Given the description of an element on the screen output the (x, y) to click on. 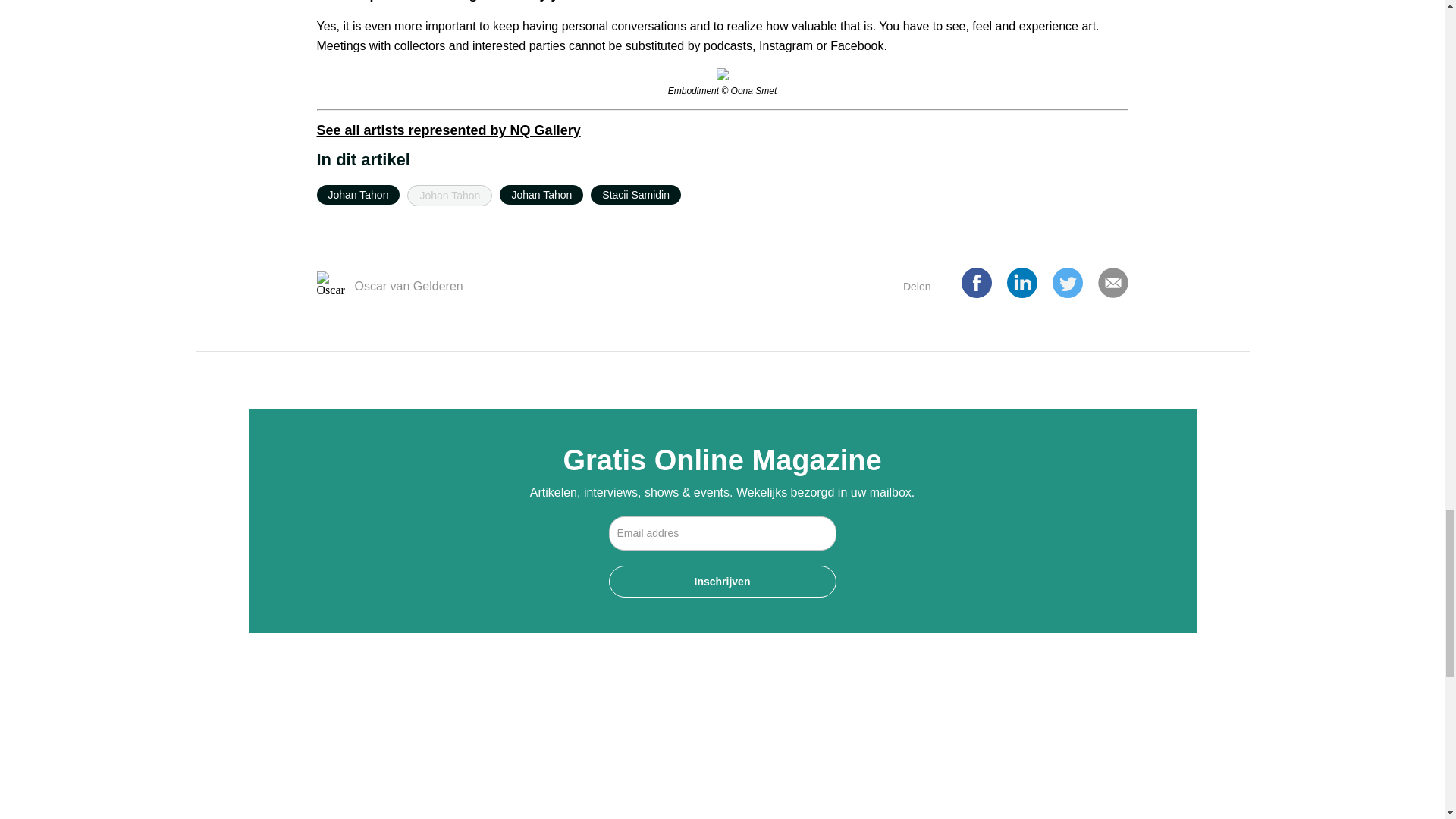
Stacii Samidin (636, 194)
See all artists represented by NQ Gallery (448, 130)
Johan Tahon (541, 194)
Johan Tahon (449, 195)
Johan Tahon (358, 194)
Inschrijven (721, 581)
